Given the description of an element on the screen output the (x, y) to click on. 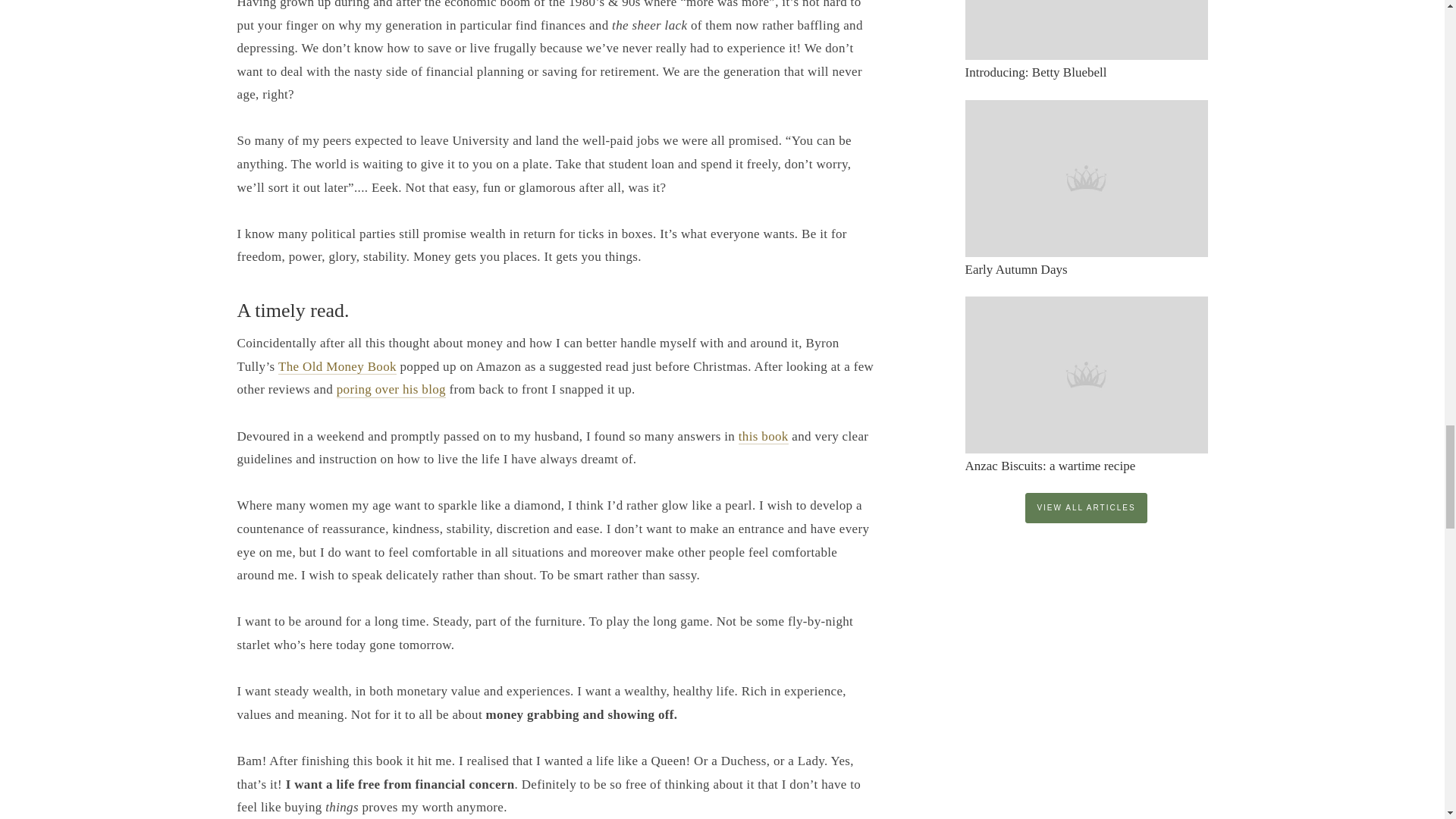
this book (763, 436)
The Old Money Book (337, 366)
poring over his blog (390, 389)
